Given the description of an element on the screen output the (x, y) to click on. 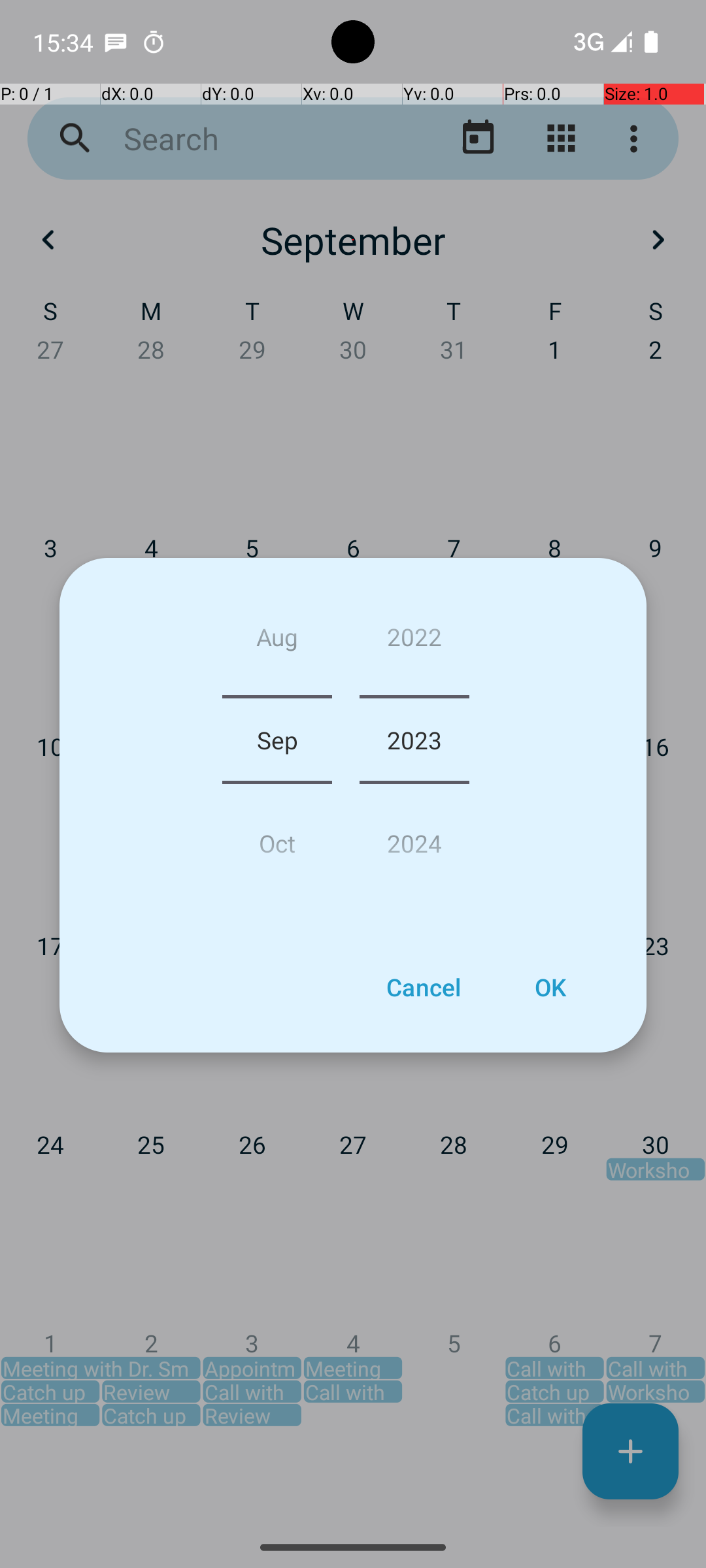
Aug Element type: android.widget.Button (277, 641)
